Given the description of an element on the screen output the (x, y) to click on. 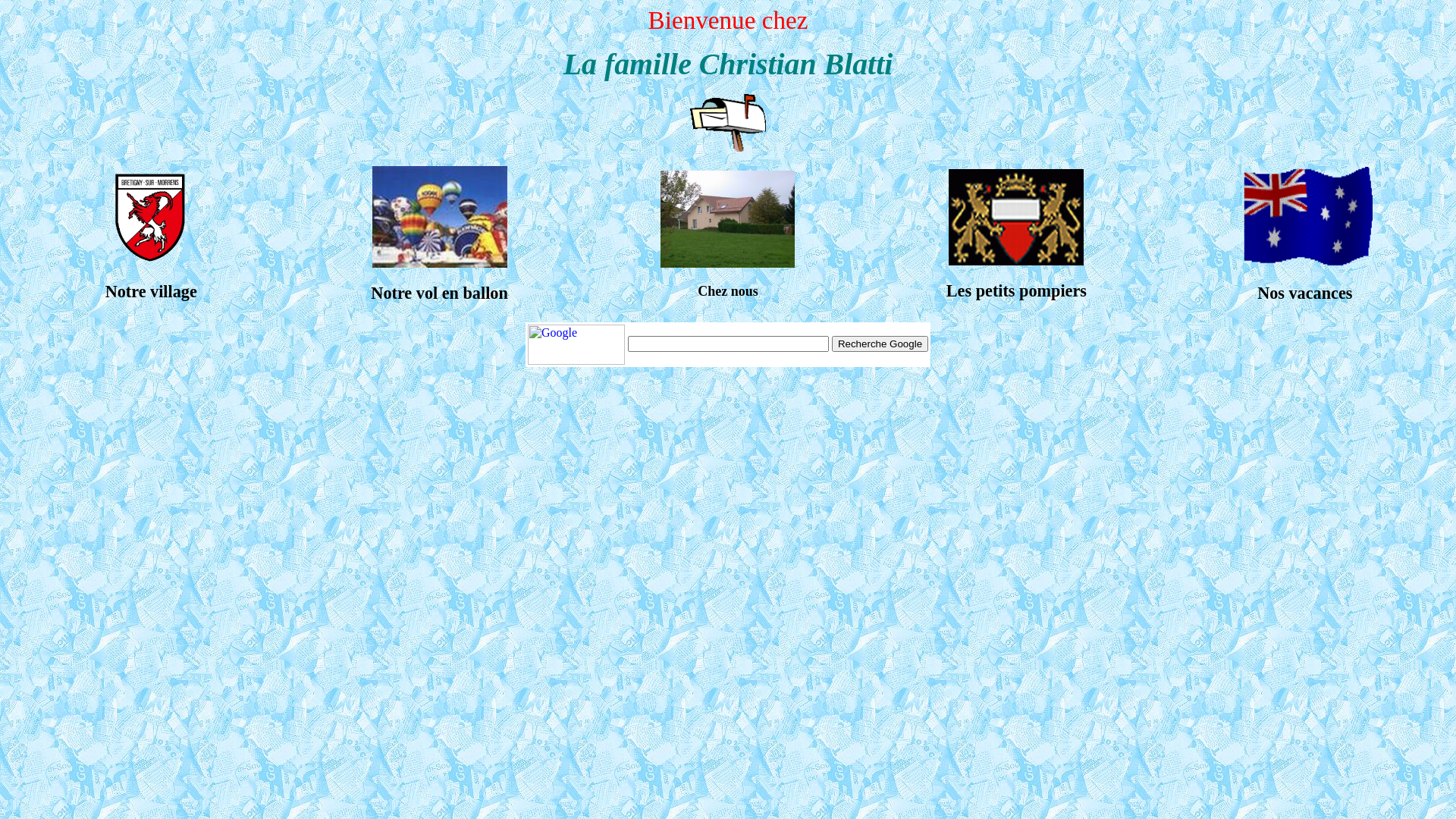
Recherche Google Element type: text (879, 343)
